Given the description of an element on the screen output the (x, y) to click on. 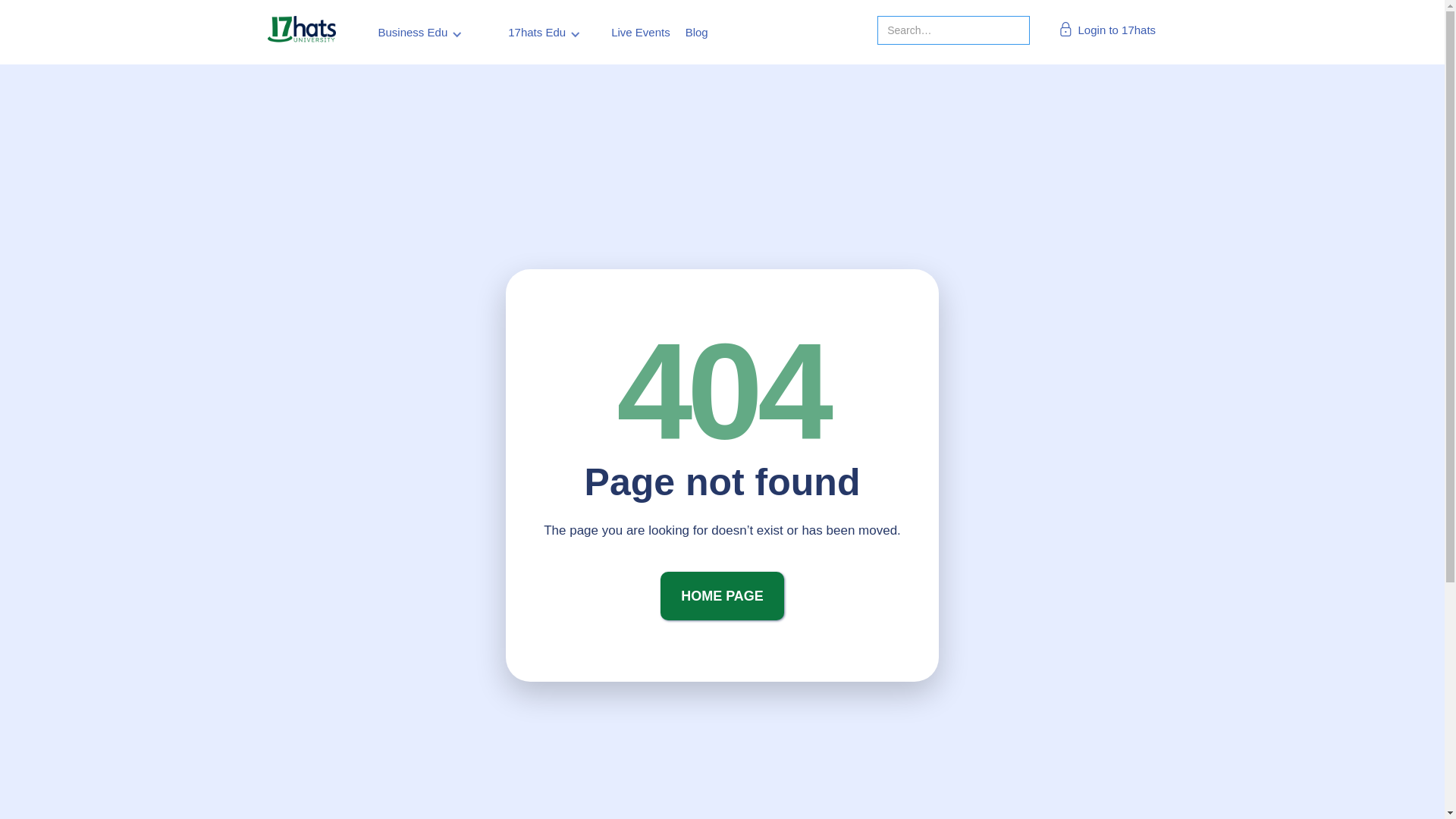
HOME PAGE Element type: text (722, 595)
Blog Element type: text (696, 31)
Live Events Element type: text (640, 31)
Search Element type: text (32, 17)
